Given the description of an element on the screen output the (x, y) to click on. 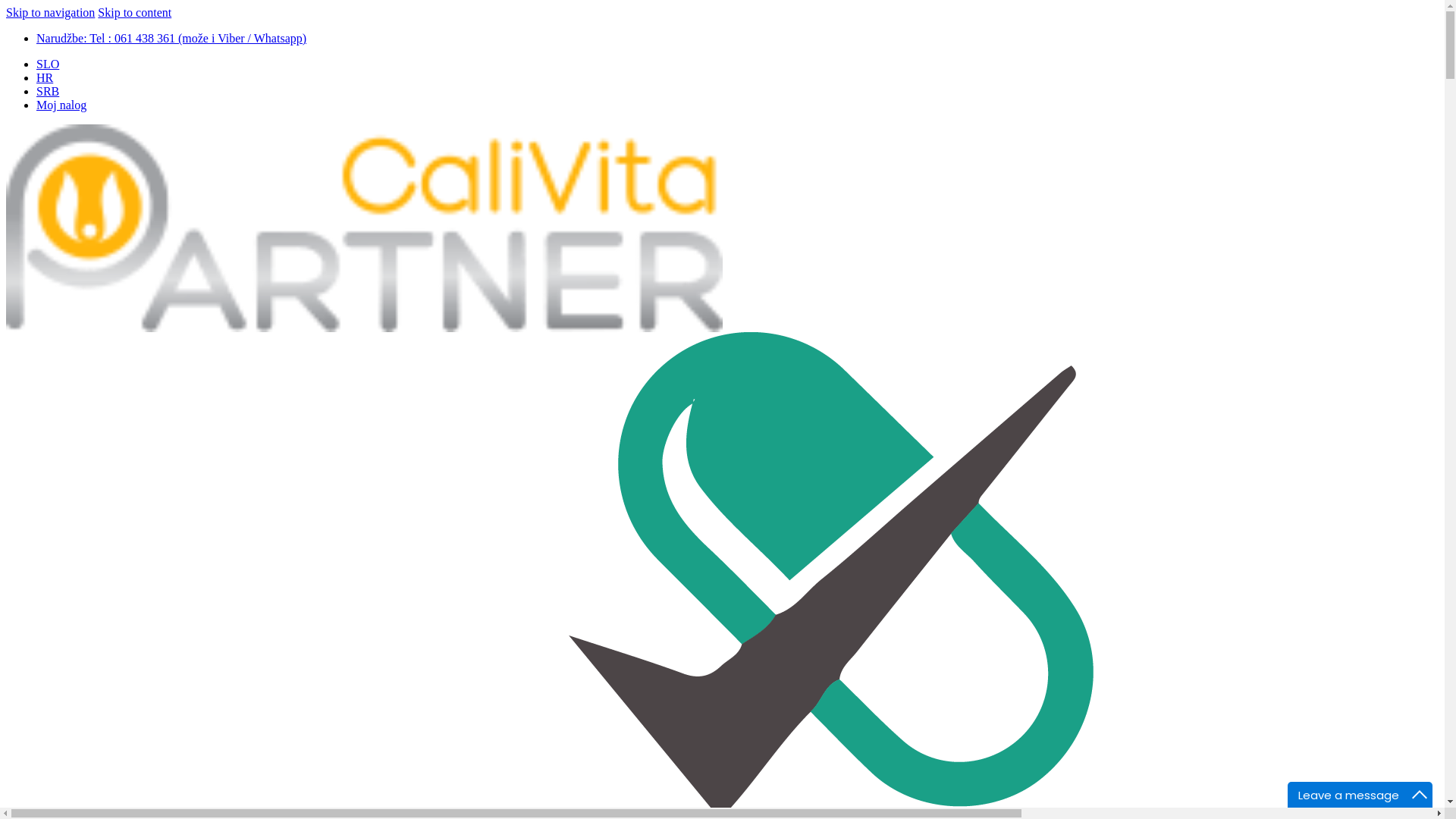
Skip to navigation Element type: text (50, 12)
Skip to content Element type: text (134, 12)
Moj nalog Element type: text (61, 104)
Maximize Element type: hover (1419, 794)
HR Element type: text (44, 77)
SRB Element type: text (47, 90)
SLO Element type: text (47, 63)
